Given the description of an element on the screen output the (x, y) to click on. 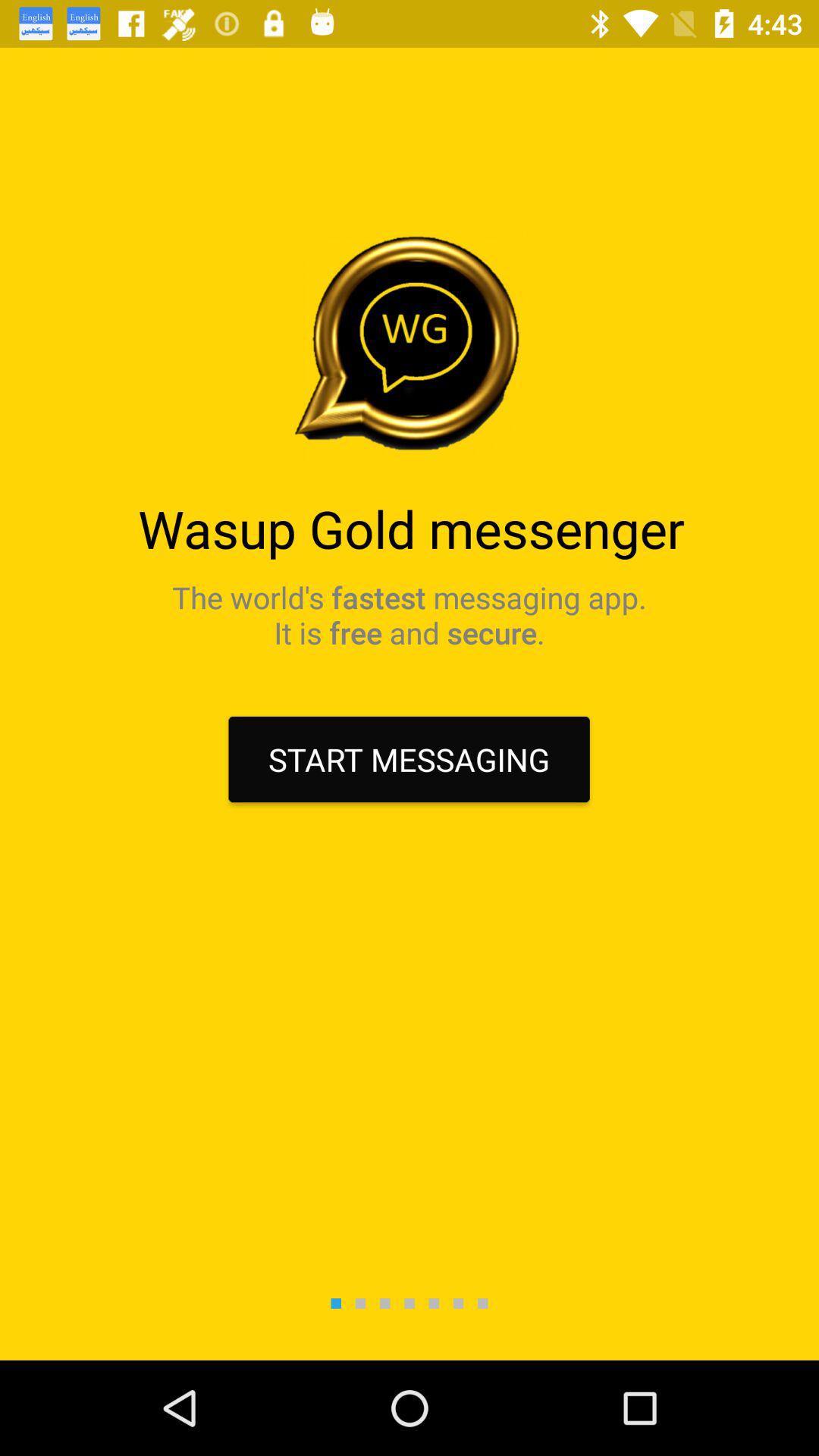
tap start messaging (408, 759)
